Given the description of an element on the screen output the (x, y) to click on. 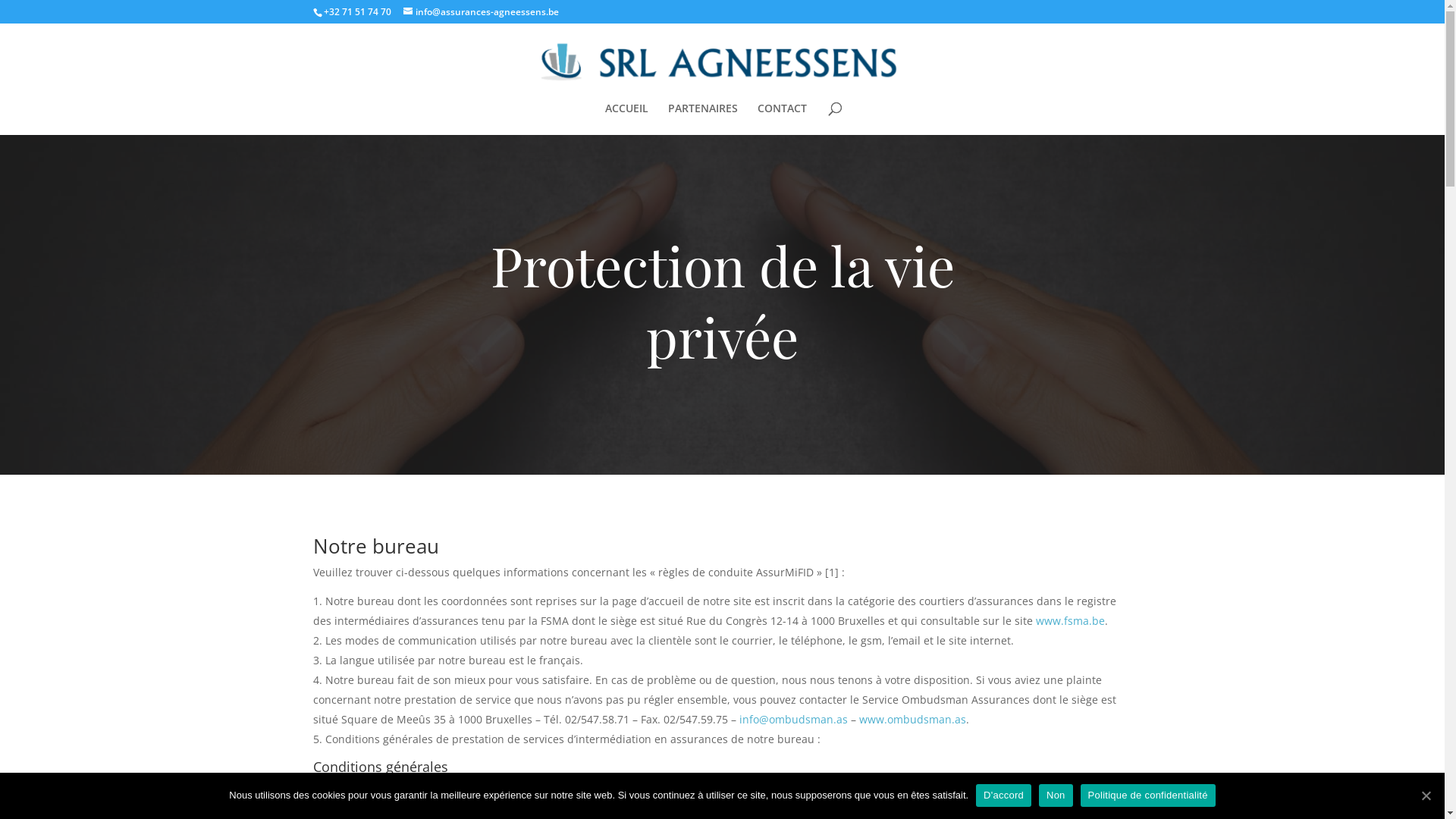
PARTENAIRES Element type: text (702, 118)
www.ombudsman.as Element type: text (911, 719)
info@ombudsman.as Element type: text (792, 719)
CONTACT Element type: text (781, 118)
ACCUEIL Element type: text (626, 118)
www.fsma.be Element type: text (1069, 620)
info@assurances-agneessens.be Element type: text (480, 11)
Non Element type: text (1055, 795)
D'accord Element type: text (1003, 795)
